Given the description of an element on the screen output the (x, y) to click on. 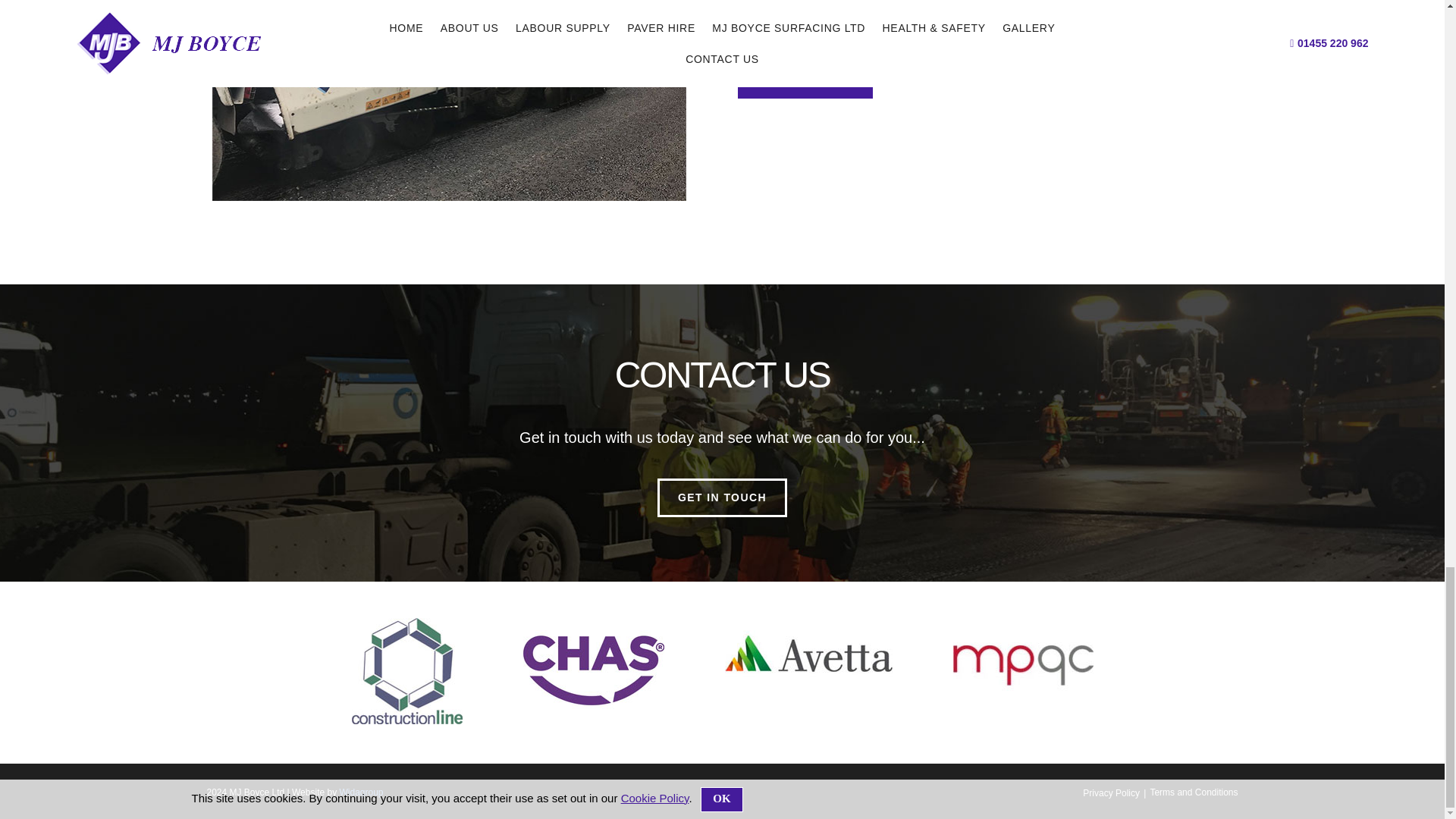
Widagroup (360, 792)
Privacy Policy (1111, 792)
GET IN TOUCH (722, 497)
VIEW GALLERY (804, 78)
Terms and Conditions (1193, 792)
